Given the description of an element on the screen output the (x, y) to click on. 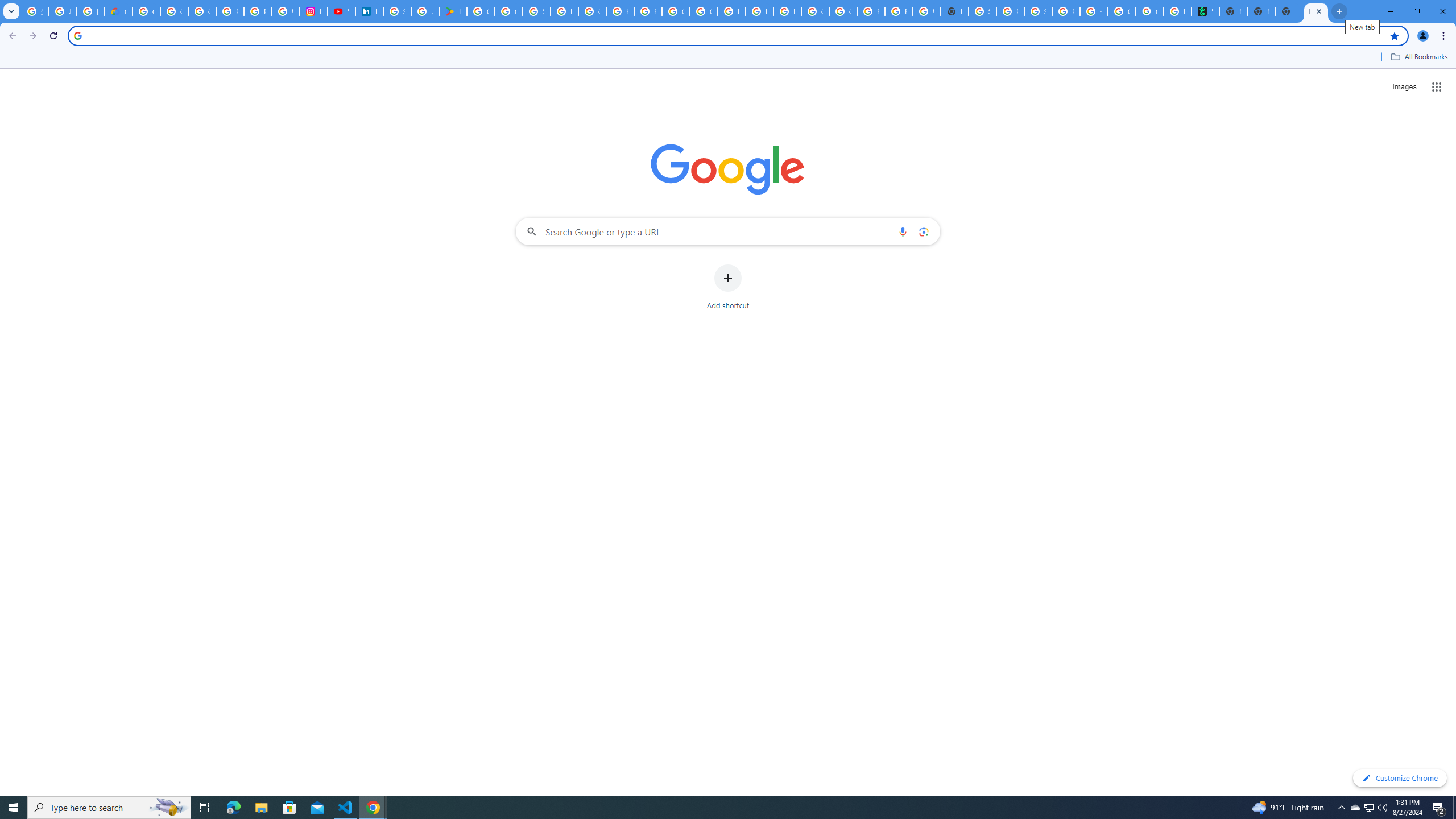
New Tab (955, 11)
Sign in - Google Accounts (397, 11)
Google Workspace - Specific Terms (508, 11)
Browse Chrome as a guest - Computer - Google Chrome Help (898, 11)
Customize Chrome (1399, 778)
